Given the description of an element on the screen output the (x, y) to click on. 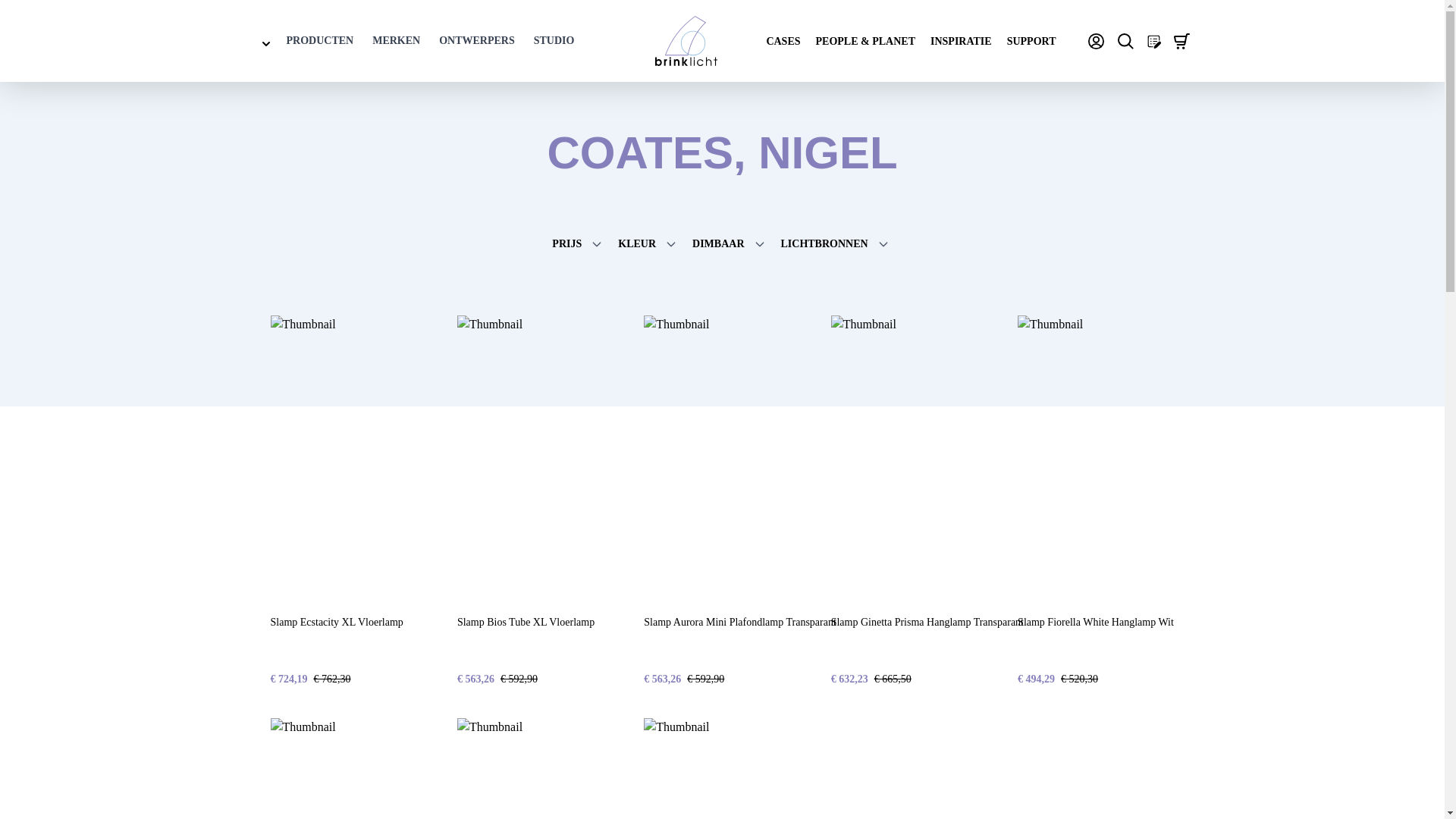
MERKEN (396, 40)
Studio (554, 40)
Zoeken (1126, 41)
SUPPORT (1032, 41)
Winkelwagen (1181, 41)
ONTWERPERS (477, 40)
Brands (396, 40)
support (1032, 41)
portfolio (865, 41)
PRODUCTEN (319, 40)
